Given the description of an element on the screen output the (x, y) to click on. 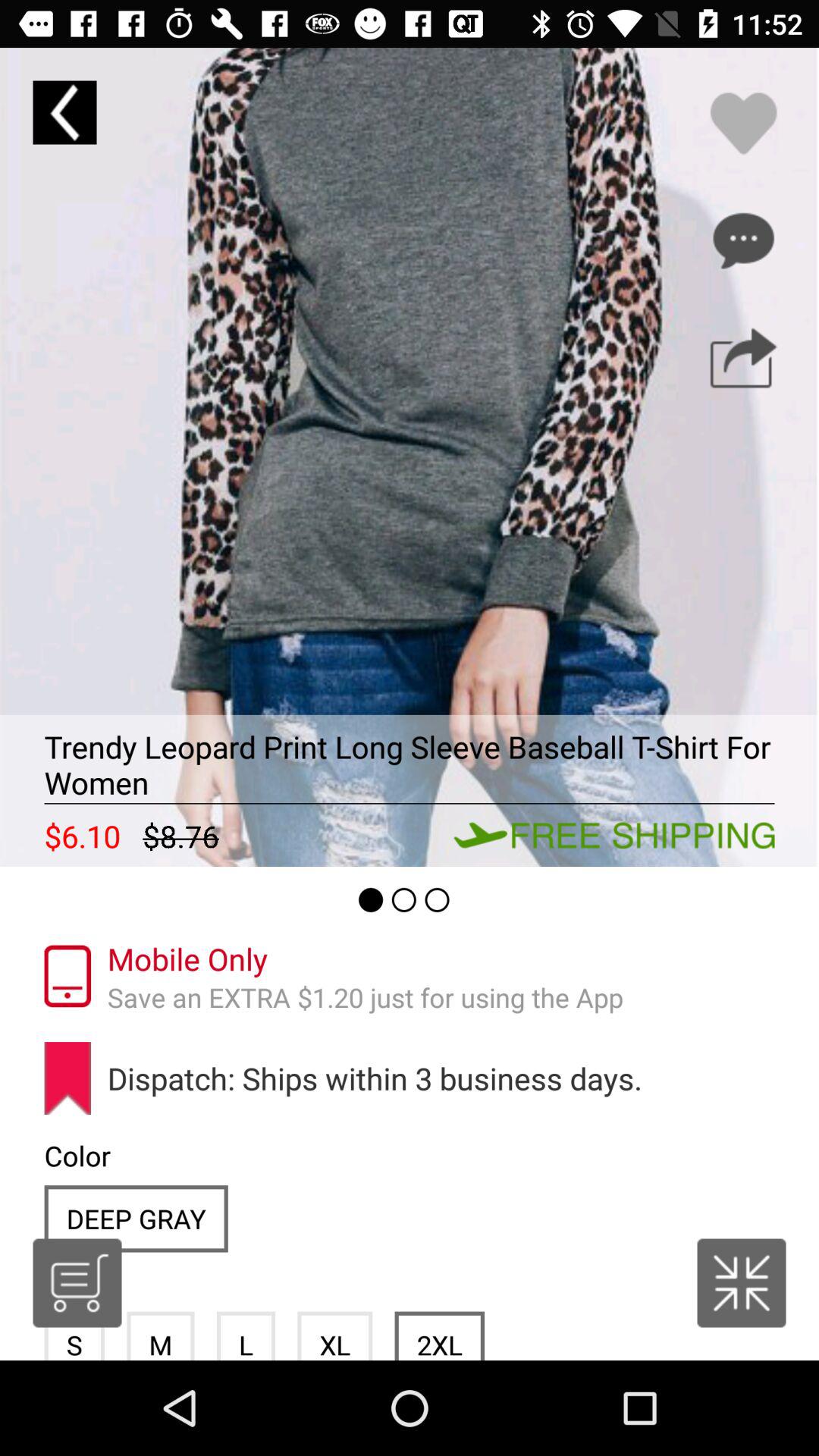
open shopping cart (76, 1282)
